Given the description of an element on the screen output the (x, y) to click on. 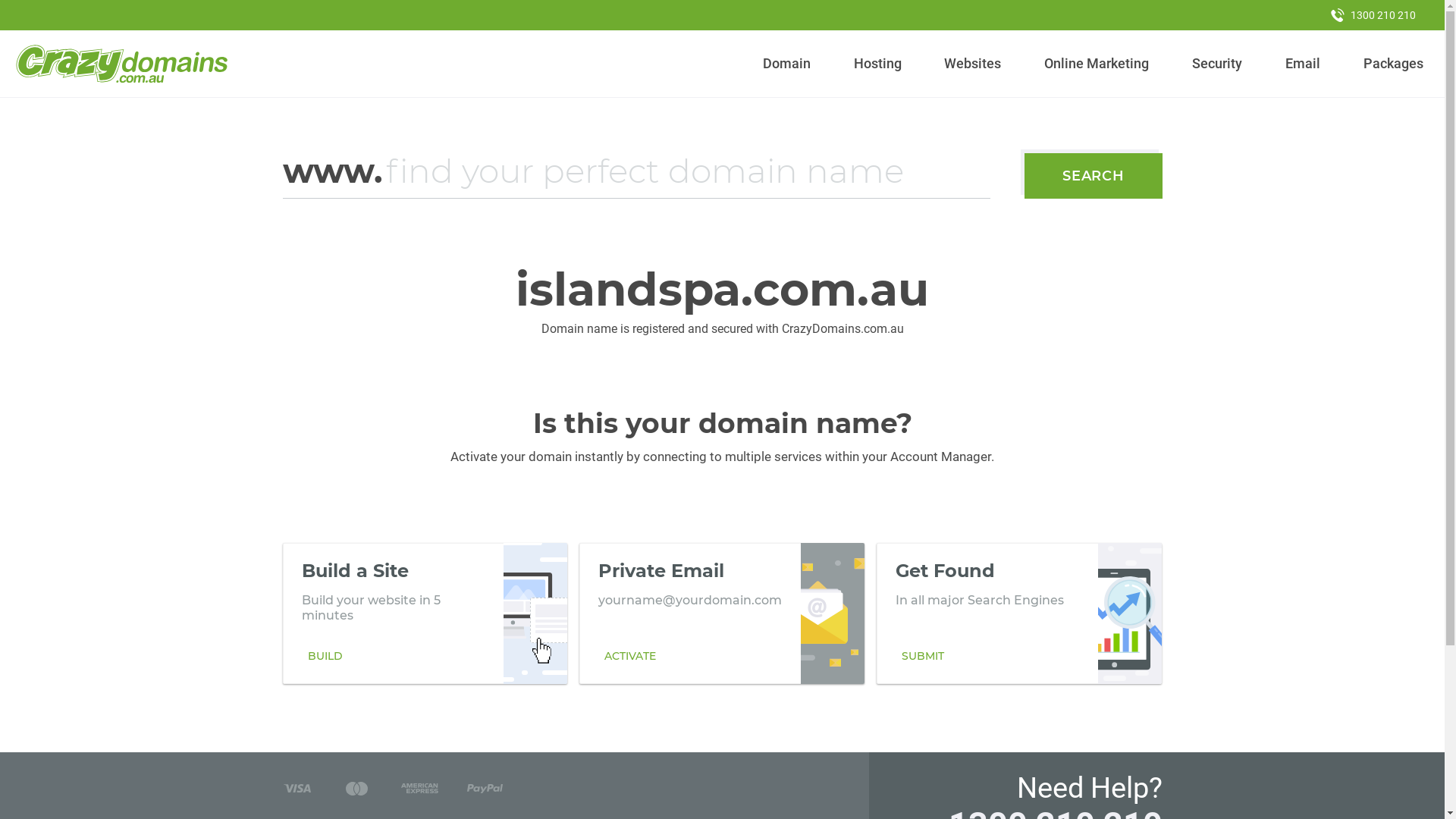
Packages Element type: text (1392, 63)
Email Element type: text (1302, 63)
Security Element type: text (1217, 63)
1300 210 210 Element type: text (1373, 15)
Private Email
yourname@yourdomain.com
ACTIVATE Element type: text (721, 613)
Get Found
In all major Search Engines
SUBMIT Element type: text (1018, 613)
Hosting Element type: text (877, 63)
Websites Element type: text (972, 63)
Build a Site
Build your website in 5 minutes
BUILD Element type: text (424, 613)
Domain Element type: text (786, 63)
SEARCH Element type: text (1092, 175)
Online Marketing Element type: text (1096, 63)
